Given the description of an element on the screen output the (x, y) to click on. 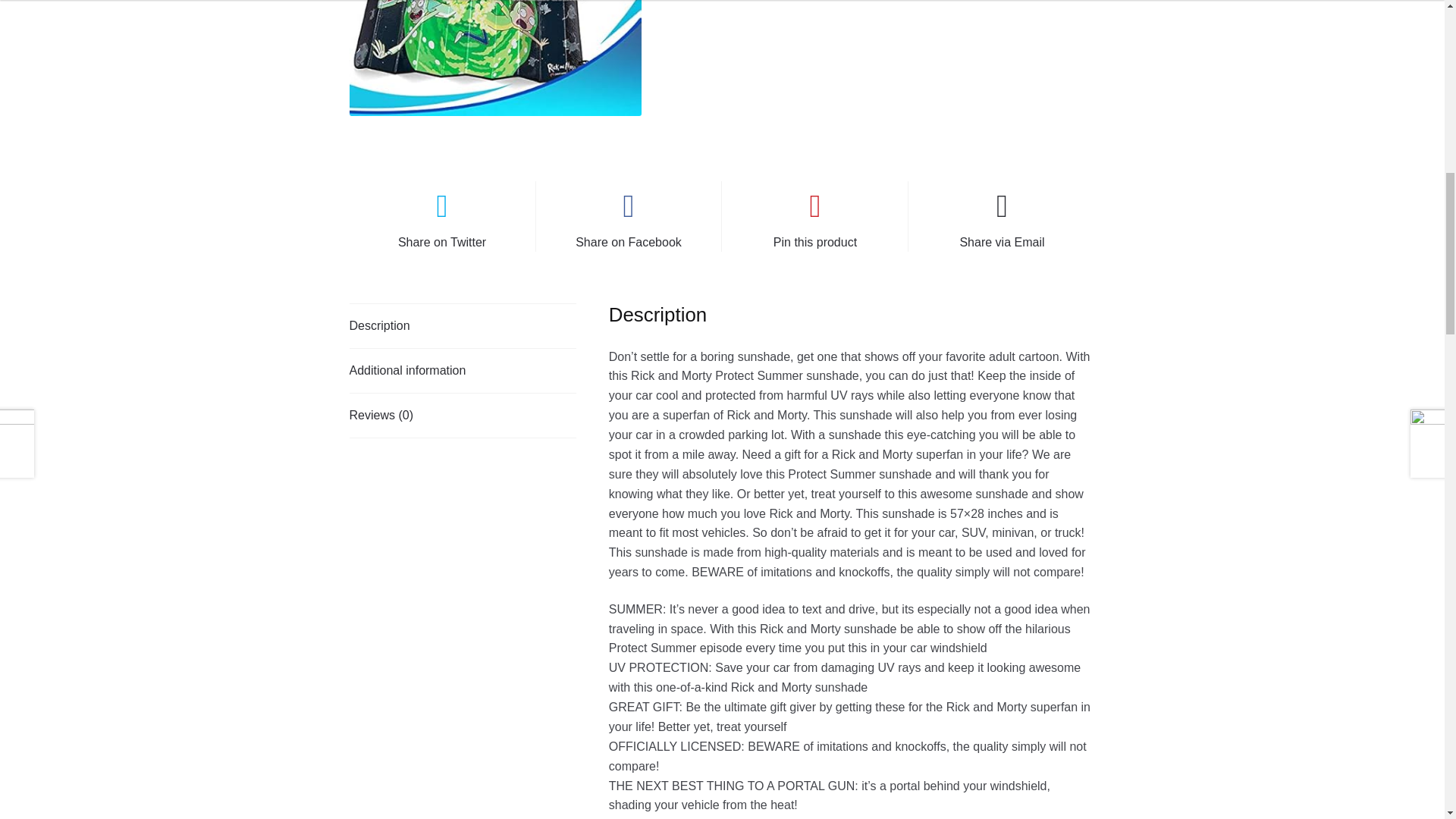
Share via Email (1001, 216)
Description (462, 325)
Pin this product (814, 216)
Share on Facebook (627, 216)
RICK-AND-MORTY-Sunshade-Portal-Jump-Universal-Sunshade (495, 58)
Additional information (462, 370)
Share on Twitter (442, 216)
